Given the description of an element on the screen output the (x, y) to click on. 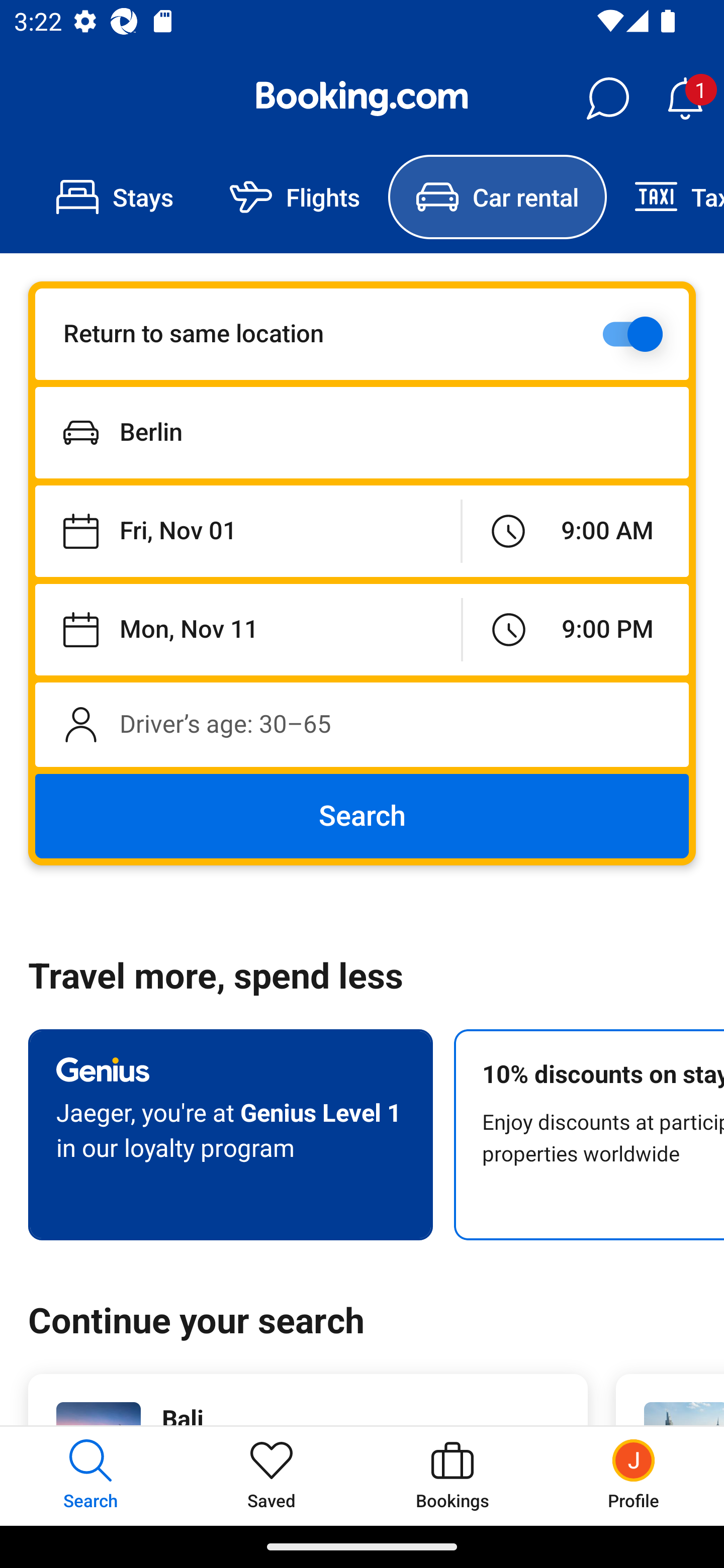
Messages (607, 98)
Notifications (685, 98)
Stays (114, 197)
Flights (294, 197)
Car rental (497, 197)
Taxi (665, 197)
Pick-up location: Text(name=Berlin) (361, 432)
Pick-up date: 2024-11-01 (247, 531)
Pick-up time: 09:00:00.000 (575, 531)
Drop-off date: 2024-11-11 (248, 629)
Drop-off time: 21:00:00.000 (575, 629)
Enter the driver's age (361, 724)
Search (361, 815)
Saved (271, 1475)
Bookings (452, 1475)
Profile (633, 1475)
